Given the description of an element on the screen output the (x, y) to click on. 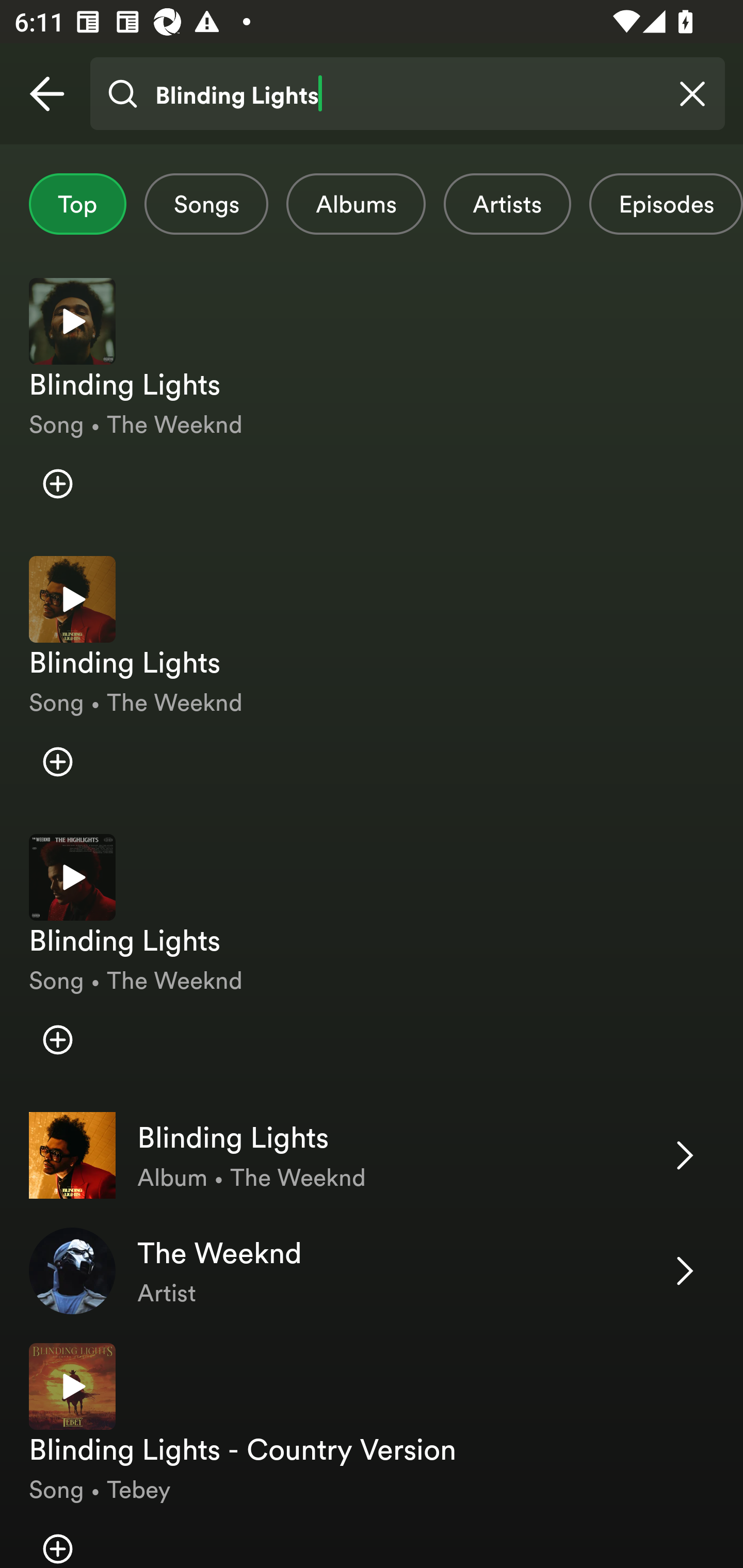
Back (46, 93)
Blinding Lights Search (407, 94)
Clear Search (692, 94)
Top (77, 203)
Songs (206, 203)
Albums (355, 203)
Artists (507, 203)
Episodes (666, 203)
Play preview (71, 321)
Add item (57, 483)
Play preview (71, 599)
Add item (57, 761)
Play preview (71, 877)
Add item (57, 1040)
Blinding Lights Album • The Weeknd (371, 1155)
The Weeknd Artist (371, 1270)
Play preview (71, 1386)
Add item (57, 1536)
